Given the description of an element on the screen output the (x, y) to click on. 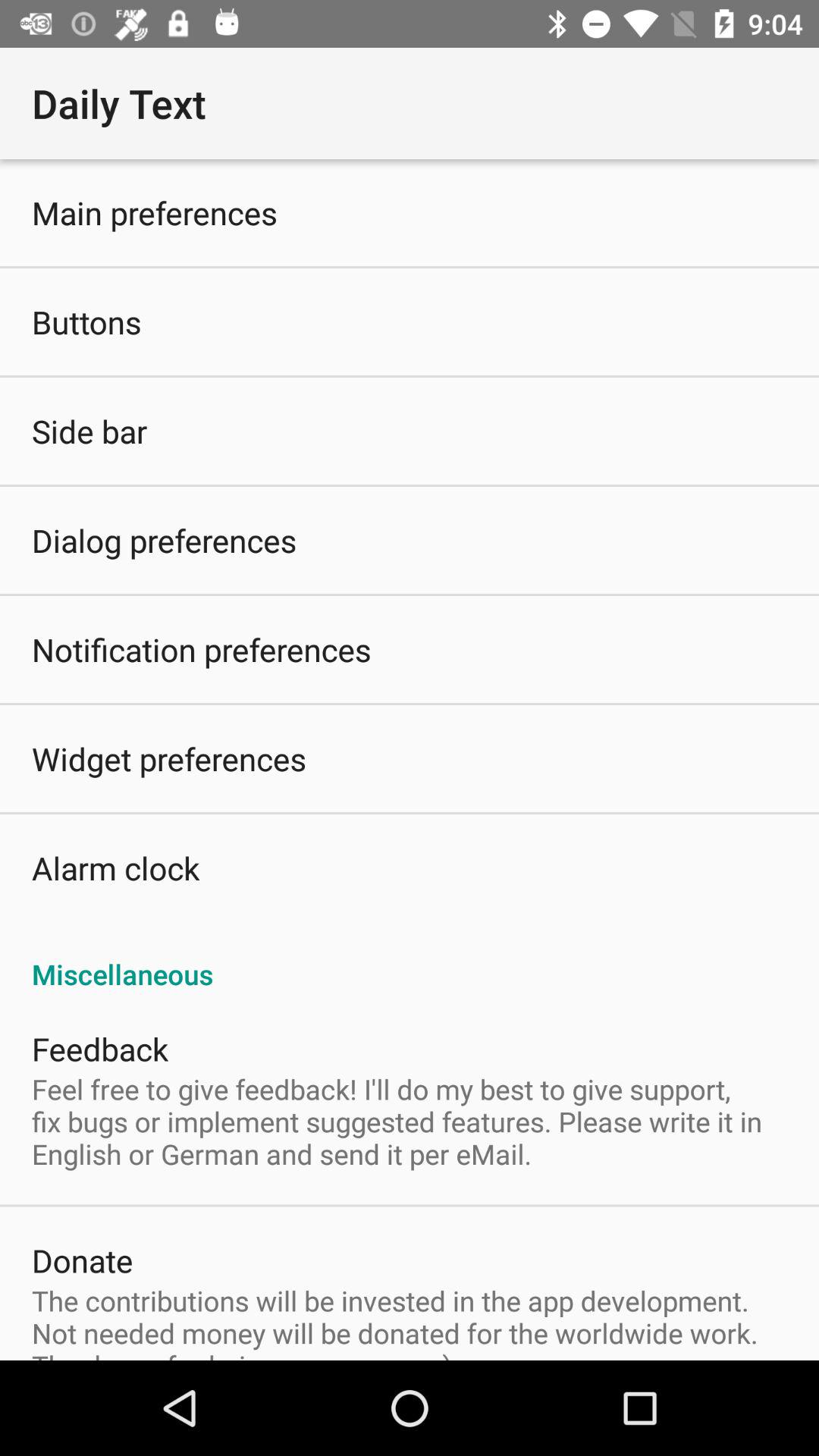
open the app above notification preferences item (163, 539)
